Given the description of an element on the screen output the (x, y) to click on. 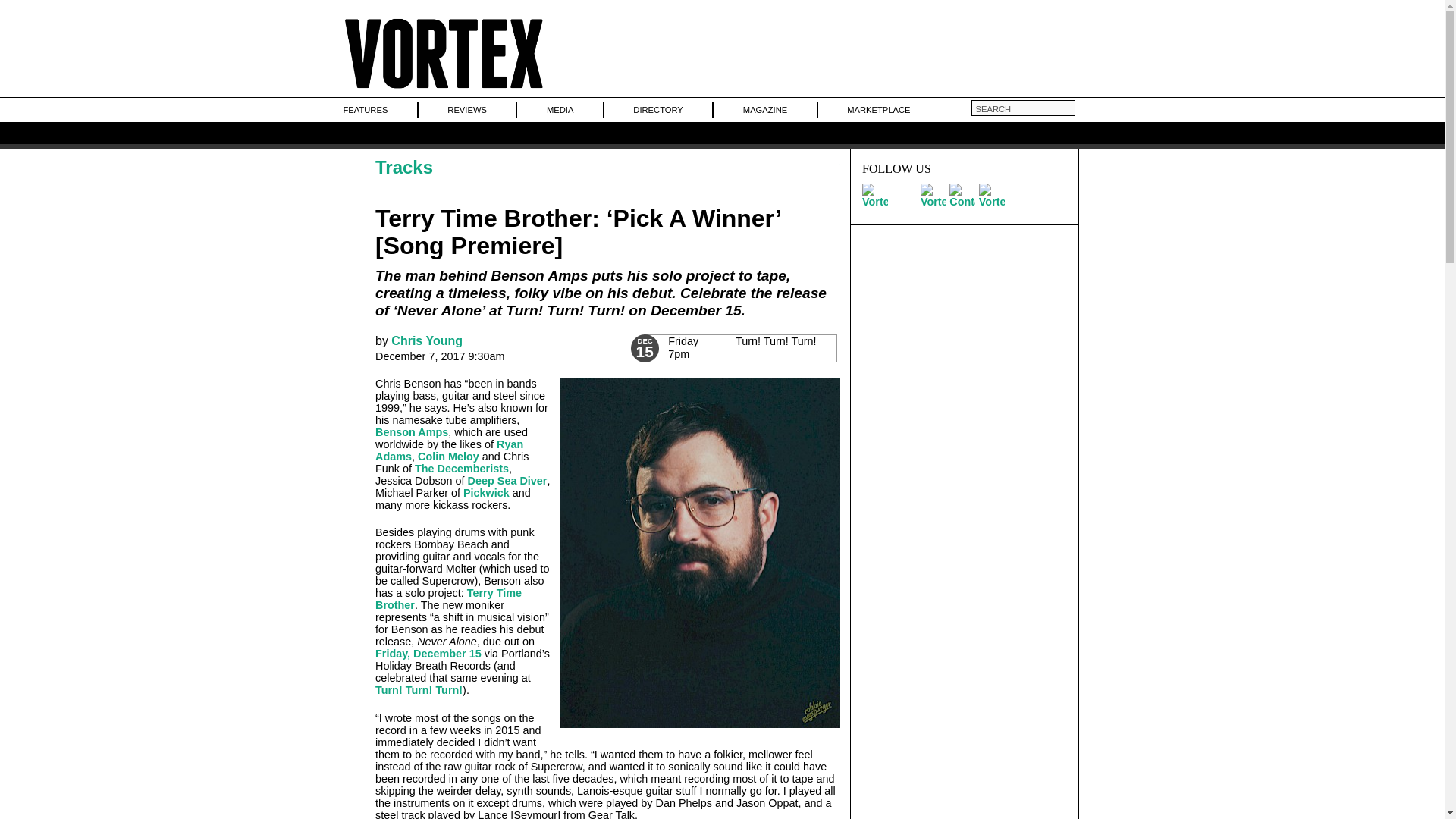
Terry Time Brother (448, 598)
read more about Chris Young (427, 340)
The Decemberists (461, 468)
FEATURES (364, 109)
Tracks (403, 167)
Colin Meloy (448, 456)
Home (442, 88)
REVIEWS (466, 109)
Deep Sea Diver (507, 480)
MAGAZINE (764, 109)
Turn! Turn! Turn! (419, 689)
Ryan Adams (448, 450)
Tweet (739, 347)
